Given the description of an element on the screen output the (x, y) to click on. 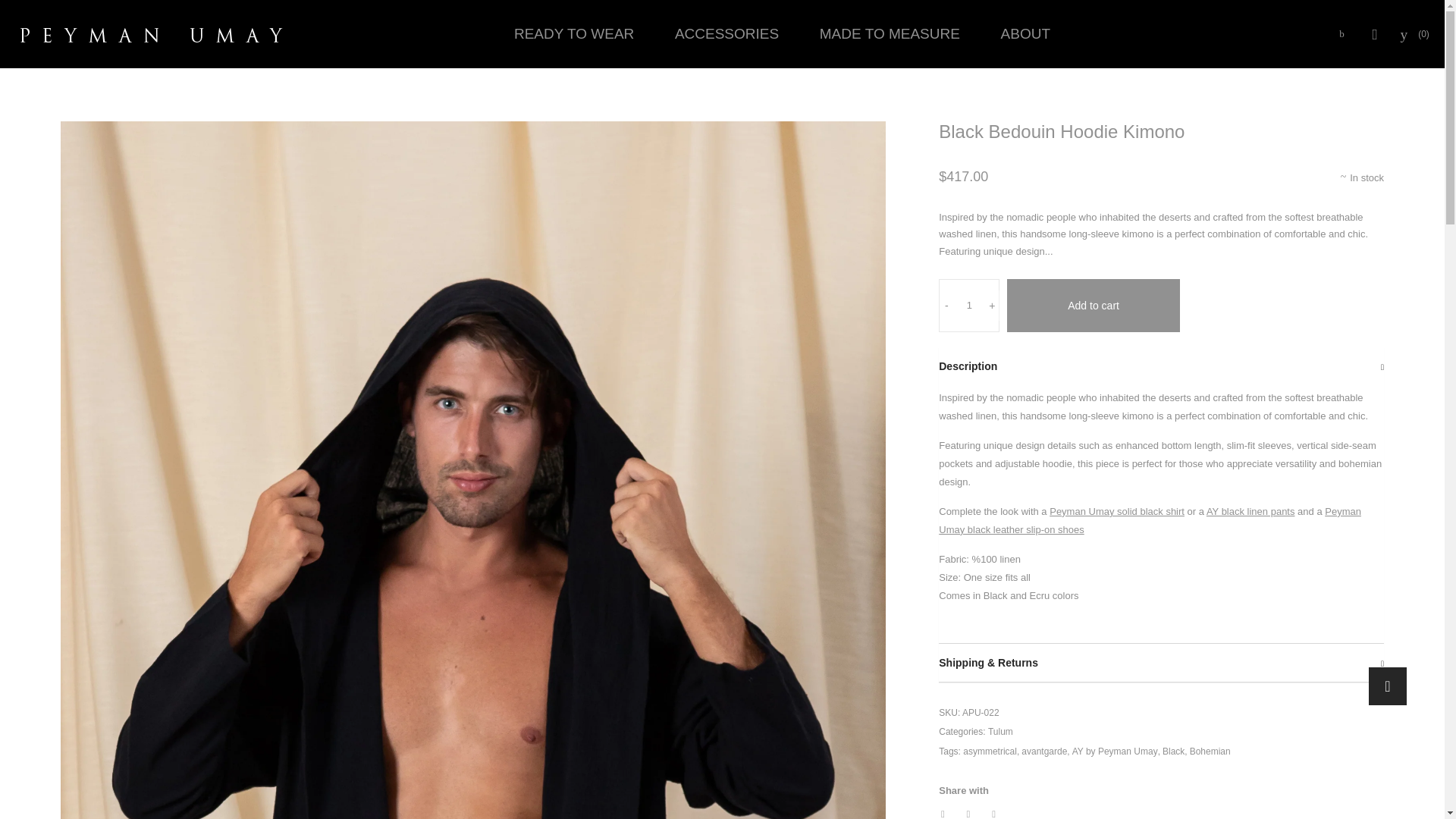
READY TO WEAR (573, 33)
Qty (968, 305)
ACCESSORIES (726, 33)
ABOUT (1025, 33)
MADE TO MEASURE (889, 33)
black leather slip-on shoes  (1150, 520)
black bohemian linen pants  (1251, 511)
0 (1414, 33)
black solid cotton shirt (1117, 511)
1 (968, 305)
